Given the description of an element on the screen output the (x, y) to click on. 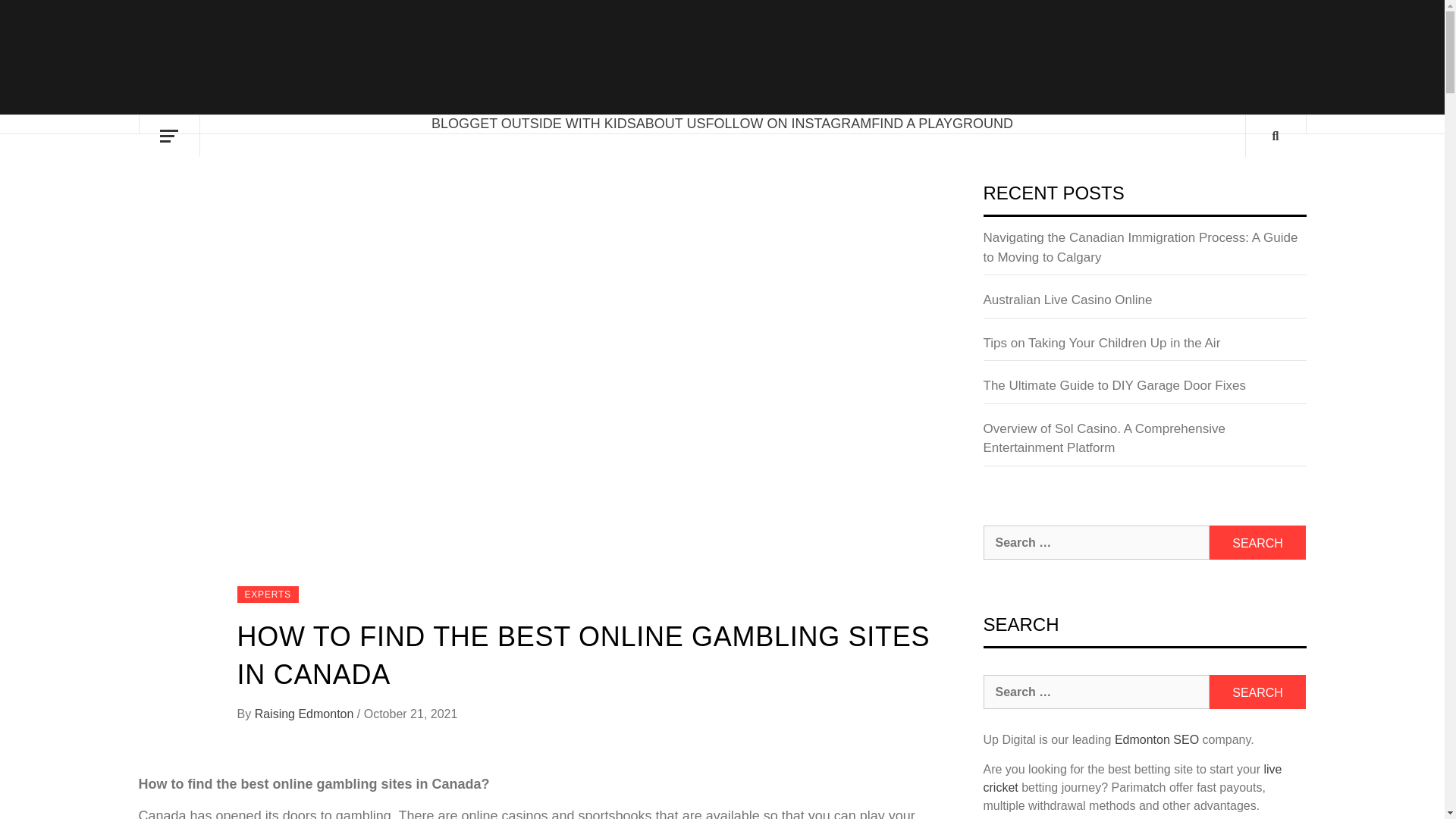
FIND A PLAYGROUND (941, 123)
GET OUTSIDE WITH KIDS (552, 123)
Raising Edmonton (305, 713)
Tips on Taking Your Children Up in the Air (1144, 347)
Australian Live Casino Online (1144, 304)
The Ultimate Guide to DIY Garage Door Fixes  (1144, 389)
Edmonton SEO (1156, 739)
ABOUT US (671, 123)
BLOG (449, 123)
